Given the description of an element on the screen output the (x, y) to click on. 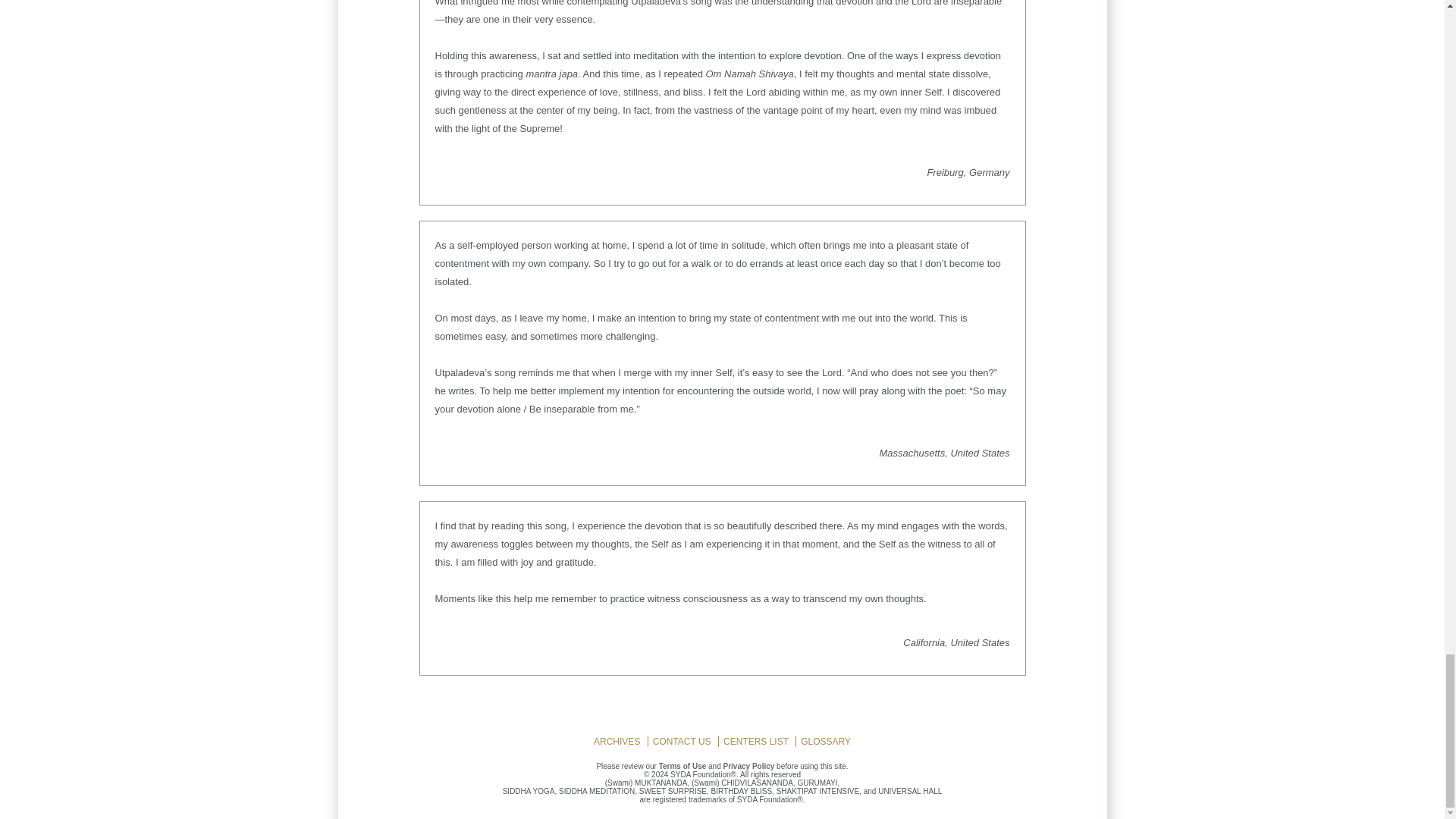
CENTERS LIST (756, 740)
Terms of Use (682, 765)
Privacy Policy (748, 765)
GLOSSARY (825, 740)
ARCHIVES (617, 740)
CONTACT US (681, 740)
